Given the description of an element on the screen output the (x, y) to click on. 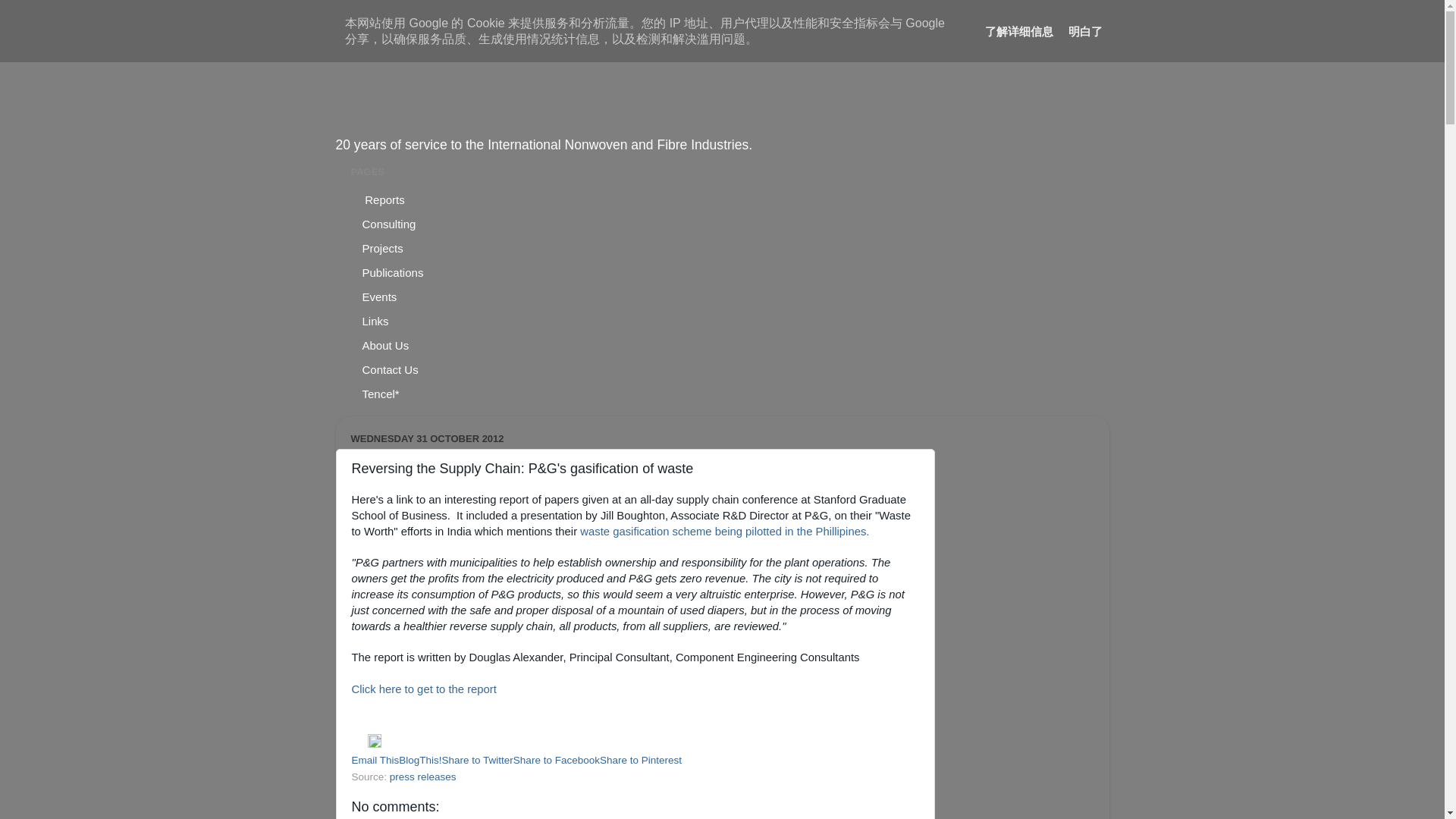
About Us (385, 345)
Click here to get to the report (424, 689)
Share to Facebook (556, 759)
Share to Facebook (556, 759)
Share to Pinterest (640, 759)
Links (375, 321)
Share to Pinterest (640, 759)
Contact Us (389, 369)
Share to Twitter (477, 759)
press releases (423, 776)
Edit Post (374, 744)
Reports (383, 200)
Share to Twitter (477, 759)
Publications (392, 273)
